Given the description of an element on the screen output the (x, y) to click on. 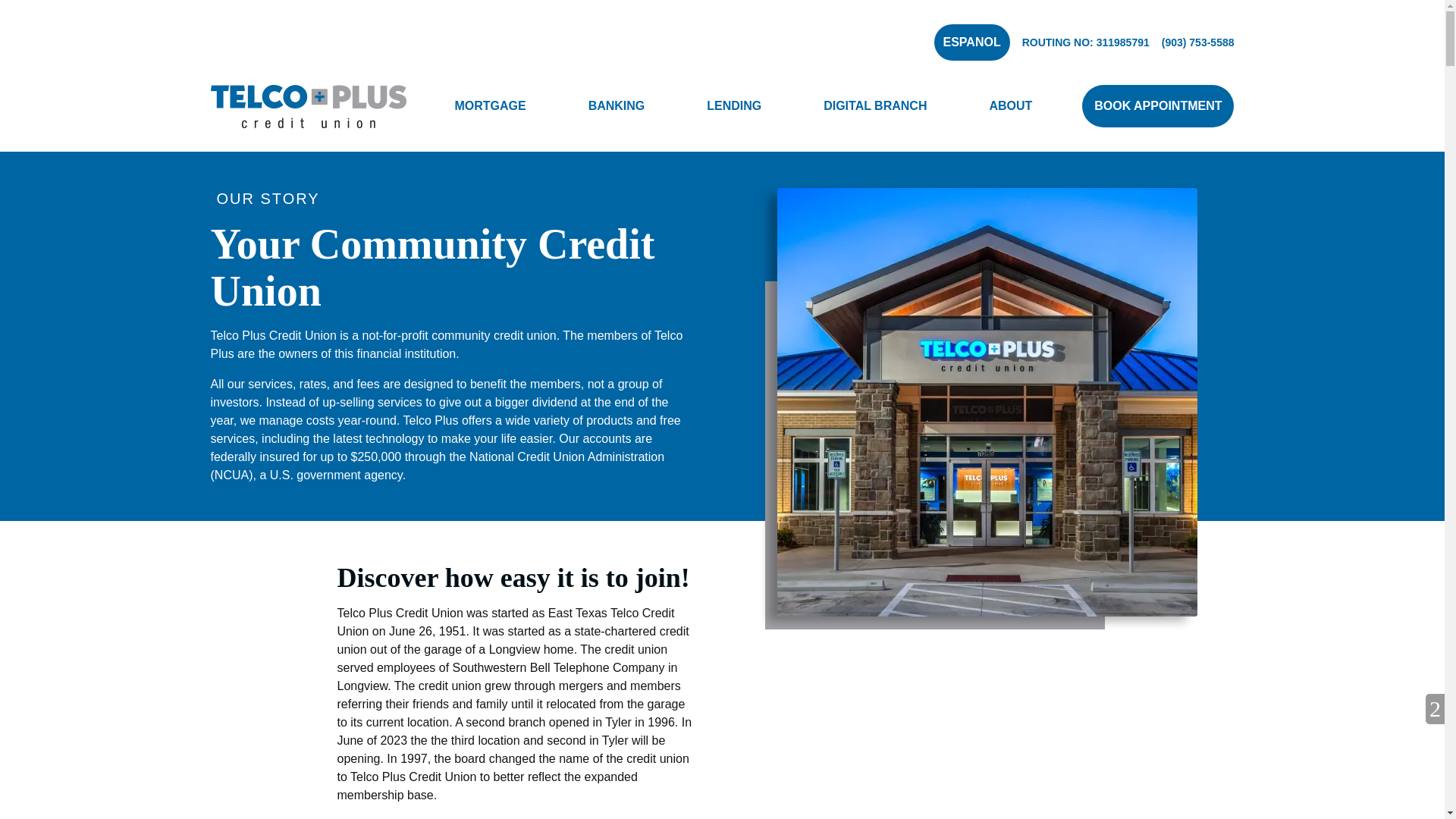
BANKING (617, 106)
ABOUT (1009, 106)
MORTGAGE (490, 106)
BOOK APPOINTMENT (1157, 106)
LENDING (733, 106)
DIGITAL BRANCH (874, 106)
